Given the description of an element on the screen output the (x, y) to click on. 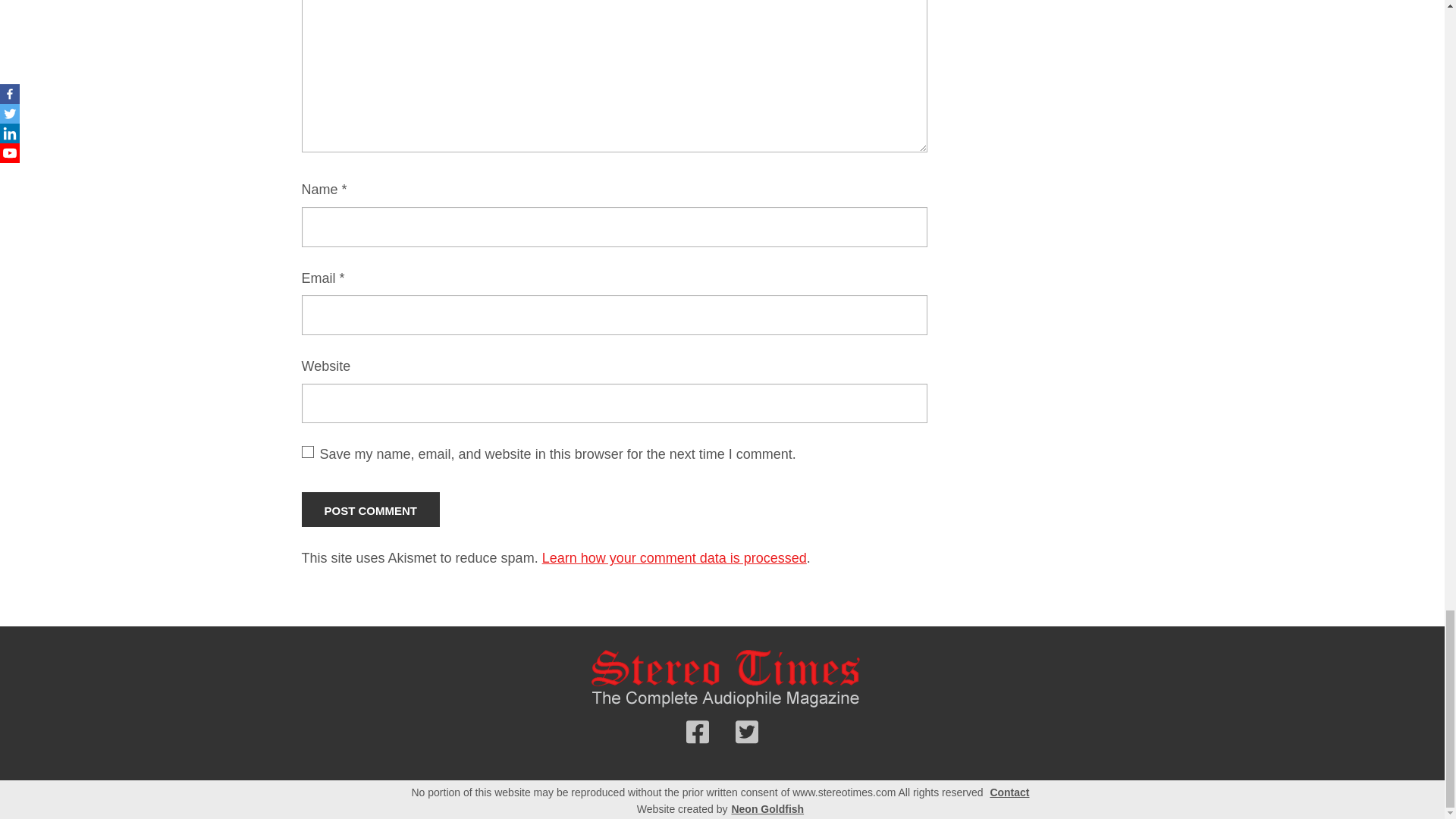
Learn how your comment data is processed (673, 557)
Post Comment (371, 509)
Post Comment (371, 509)
